Given the description of an element on the screen output the (x, y) to click on. 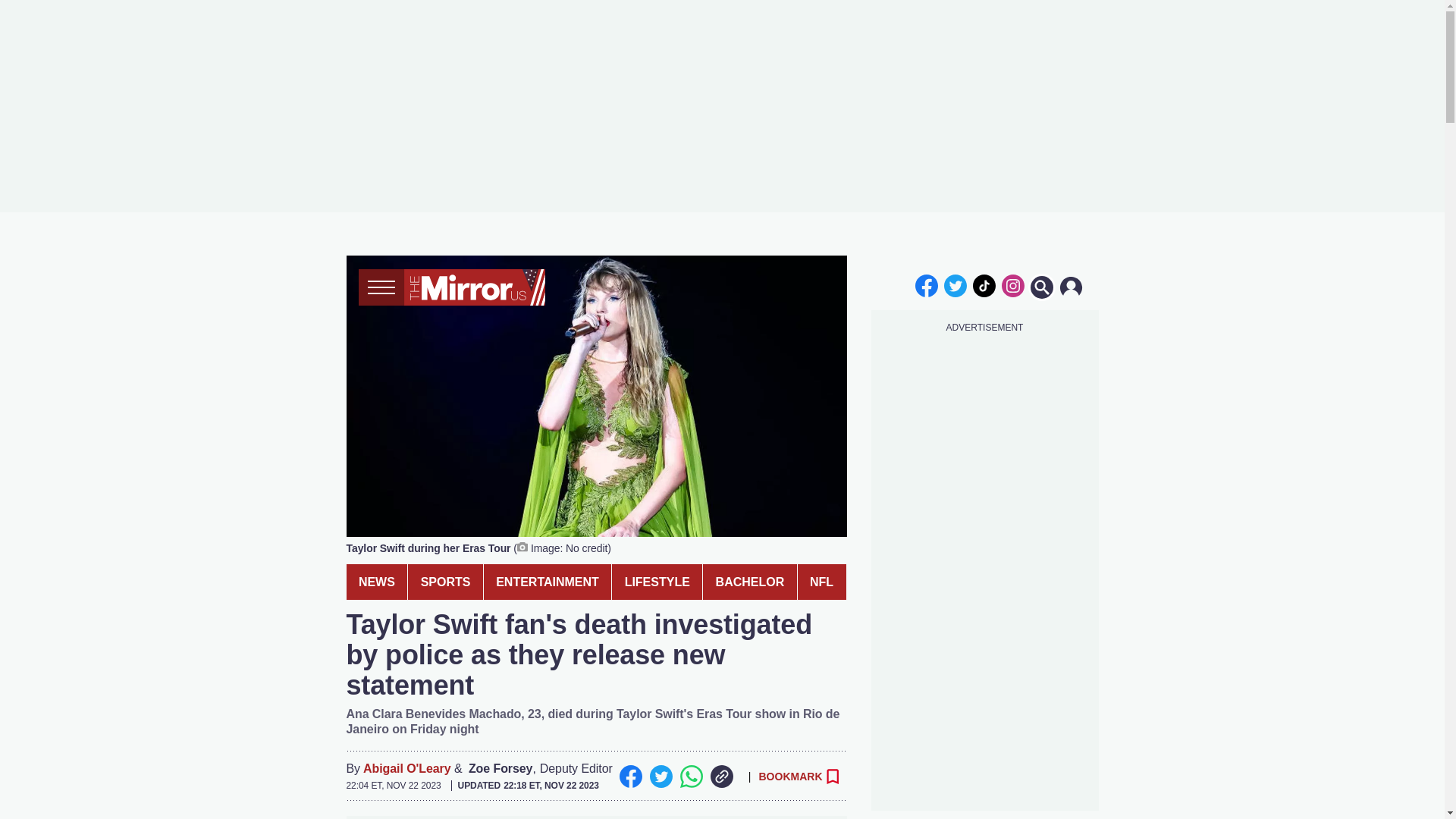
tiktok (984, 285)
NEWS (376, 581)
LIFESTYLE (656, 581)
Facebook (630, 775)
facebook (926, 285)
Whatsapp (690, 775)
twitter (955, 285)
NFL (821, 581)
Abigail O'Leary (406, 769)
BACHELOR (749, 581)
